Given the description of an element on the screen output the (x, y) to click on. 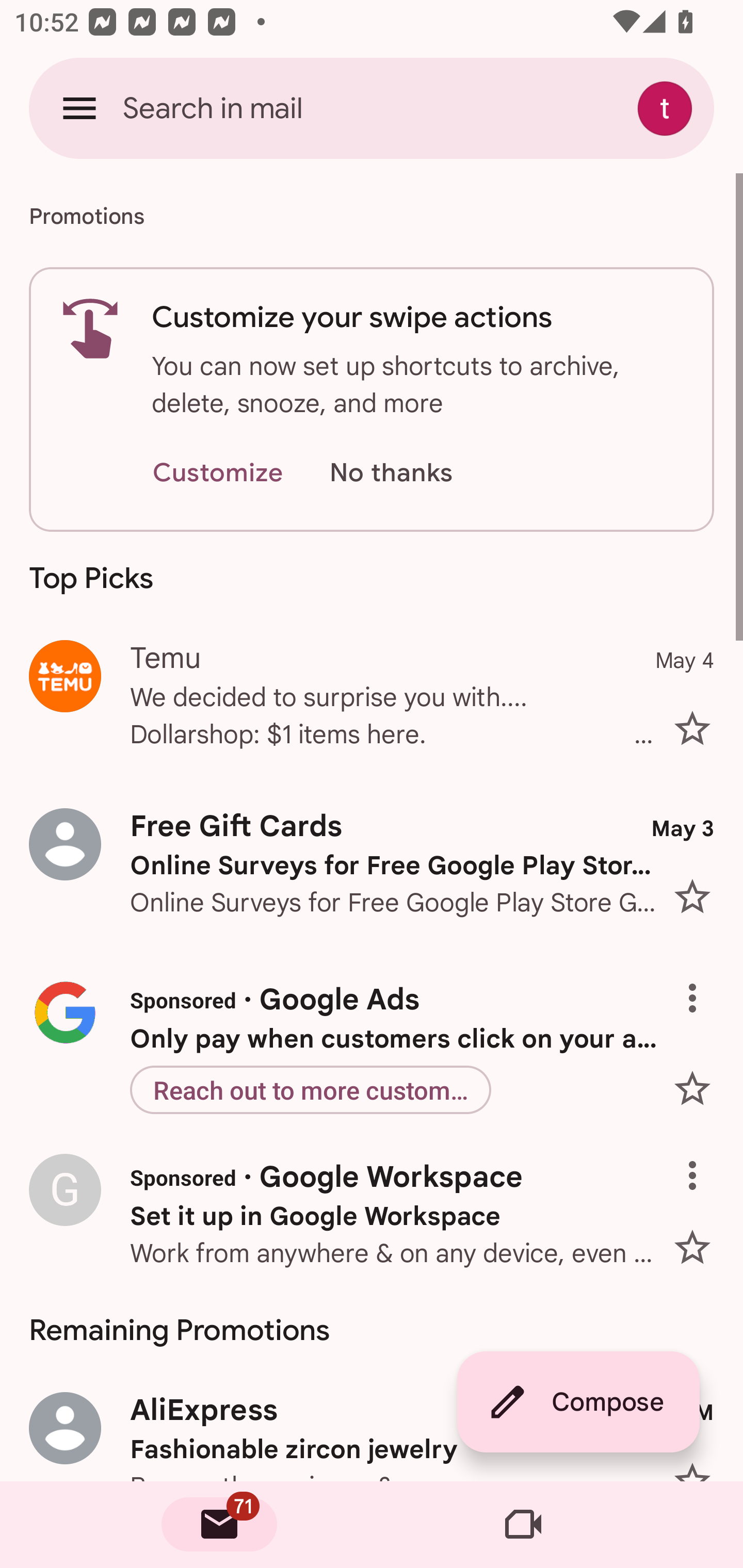
Open navigation drawer (79, 108)
Customize (217, 473)
No thanks (390, 473)
Ad info (699, 983)
Add star (699, 1088)
Reach out to more customers (310, 1089)
Ad info (699, 1160)
Add star (699, 1241)
Compose (577, 1401)
Meet (523, 1524)
